Given the description of an element on the screen output the (x, y) to click on. 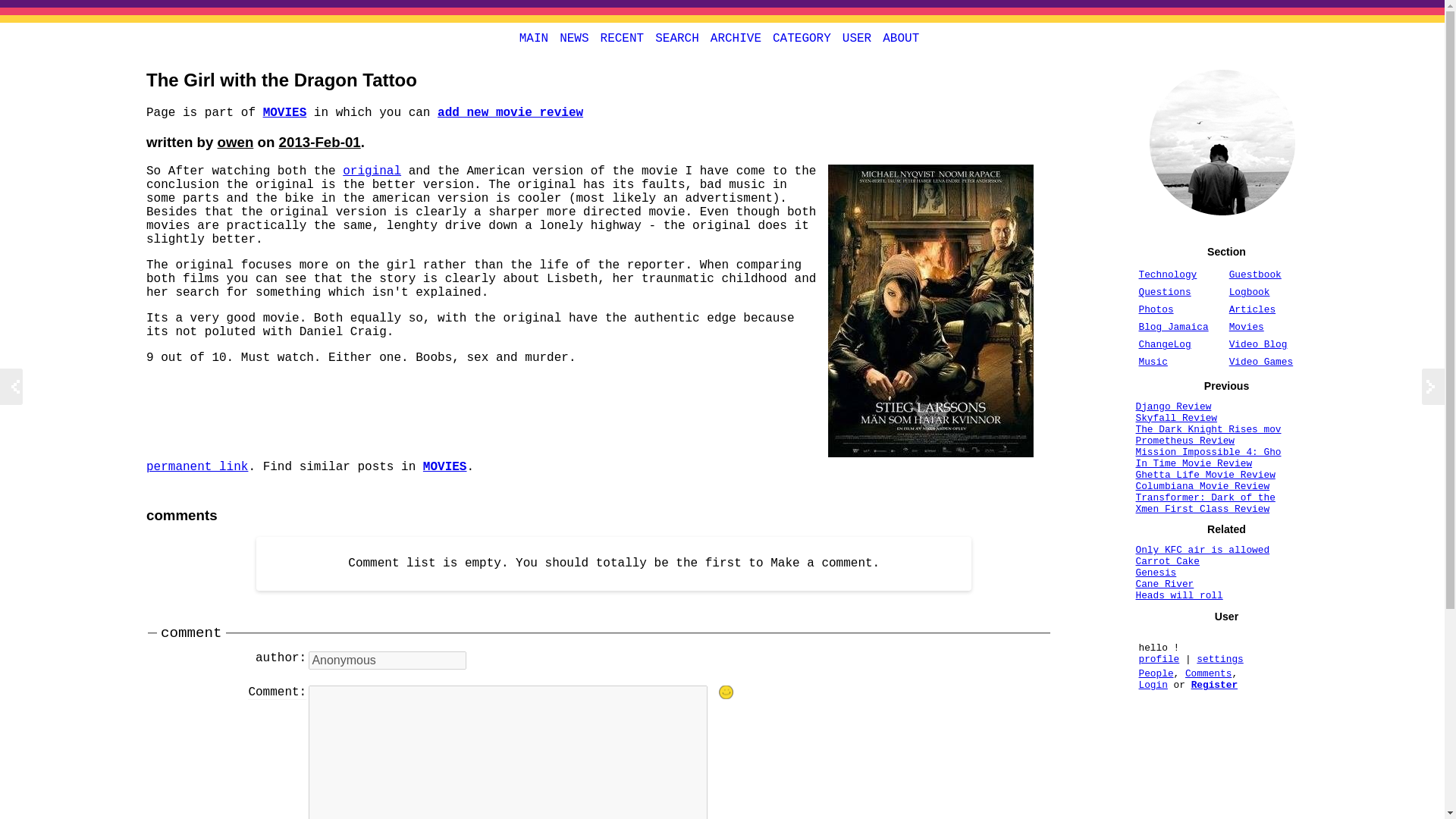
Video Games (1260, 361)
view owen profile (234, 141)
Articles (1251, 309)
Technology (1167, 274)
CATEGORY (801, 38)
USER (856, 38)
Critic (510, 112)
look for something (676, 38)
